Given the description of an element on the screen output the (x, y) to click on. 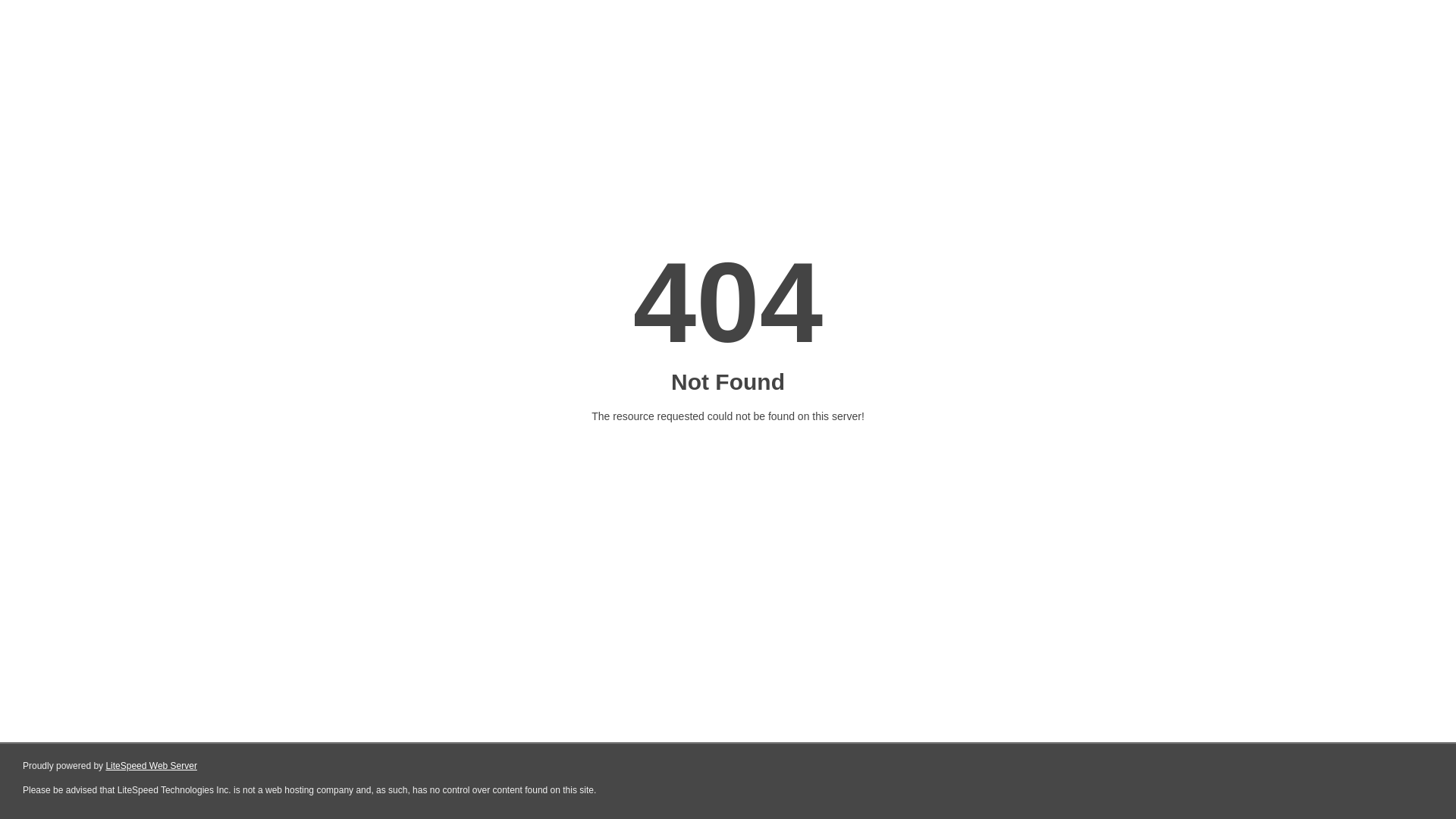
LiteSpeed Web Server (150, 765)
